Given the description of an element on the screen output the (x, y) to click on. 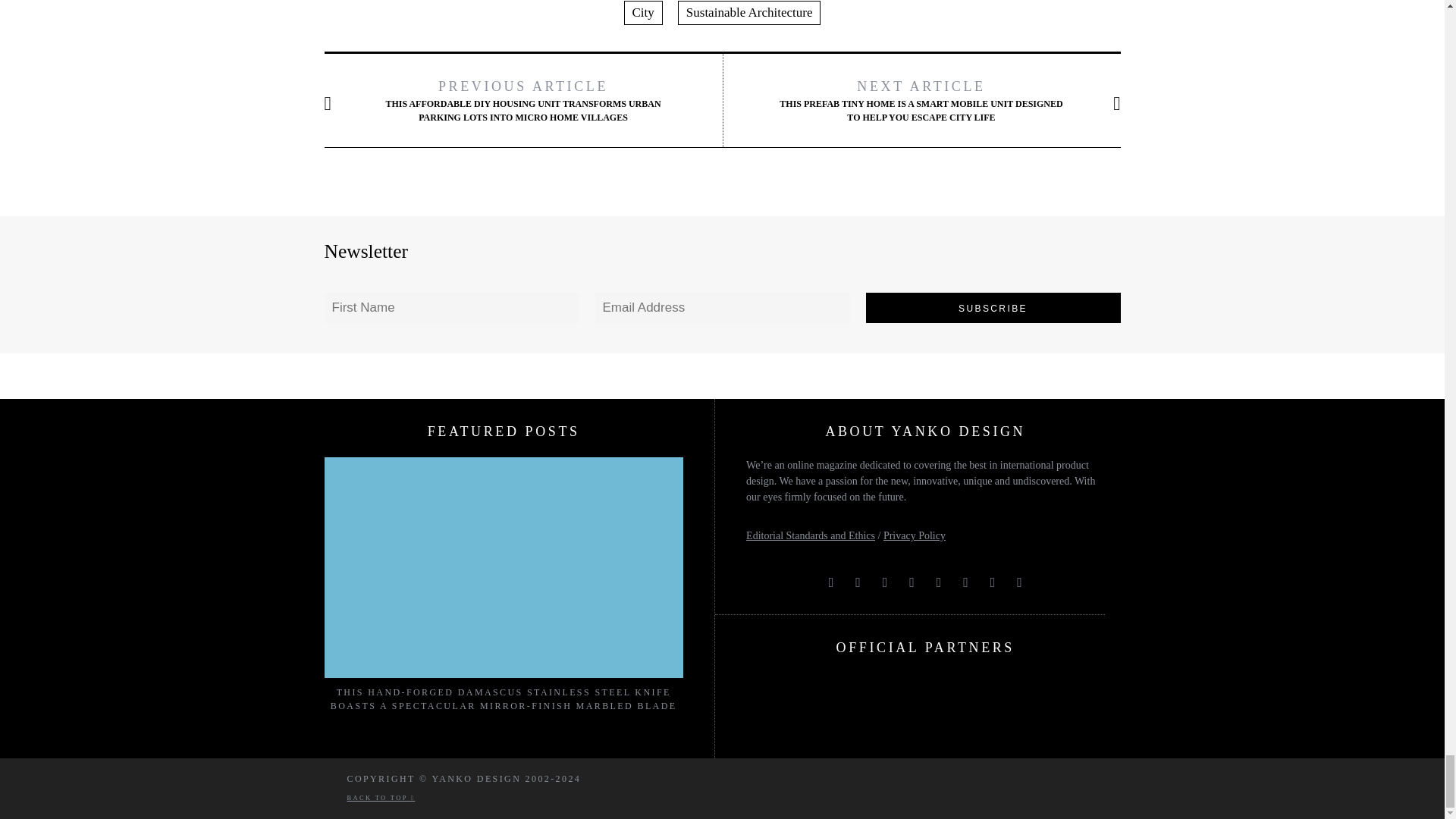
Subscribe (993, 307)
Editorial Standards and Ethics (810, 535)
Privacy Policy (913, 535)
